Given the description of an element on the screen output the (x, y) to click on. 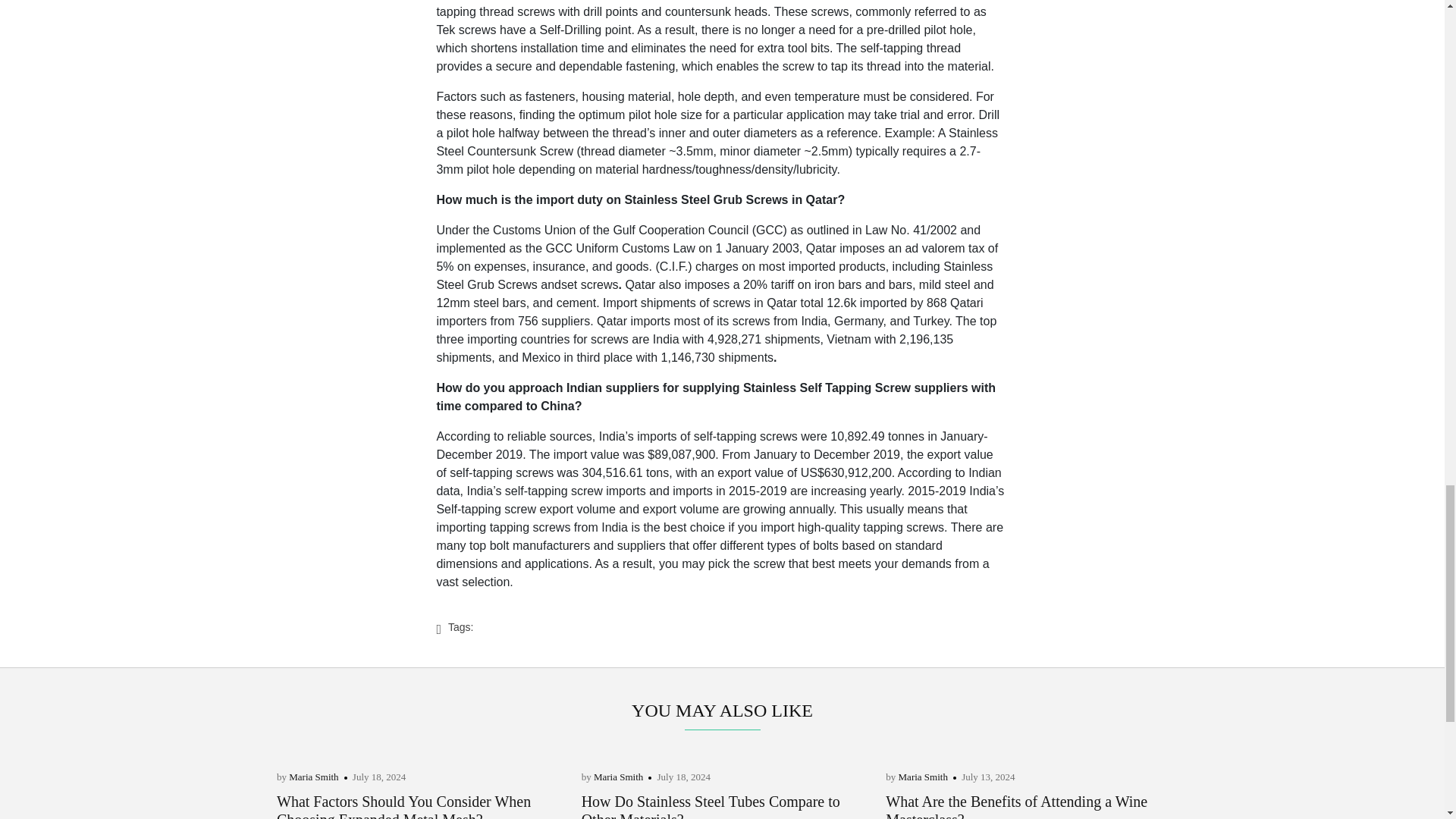
What Are the Benefits of Attending a Wine Masterclass? (1016, 806)
How Do Stainless Steel Tubes Compare to Other Materials? (710, 806)
How Do Stainless Steel Tubes Compare to Other Materials? (710, 806)
